Given the description of an element on the screen output the (x, y) to click on. 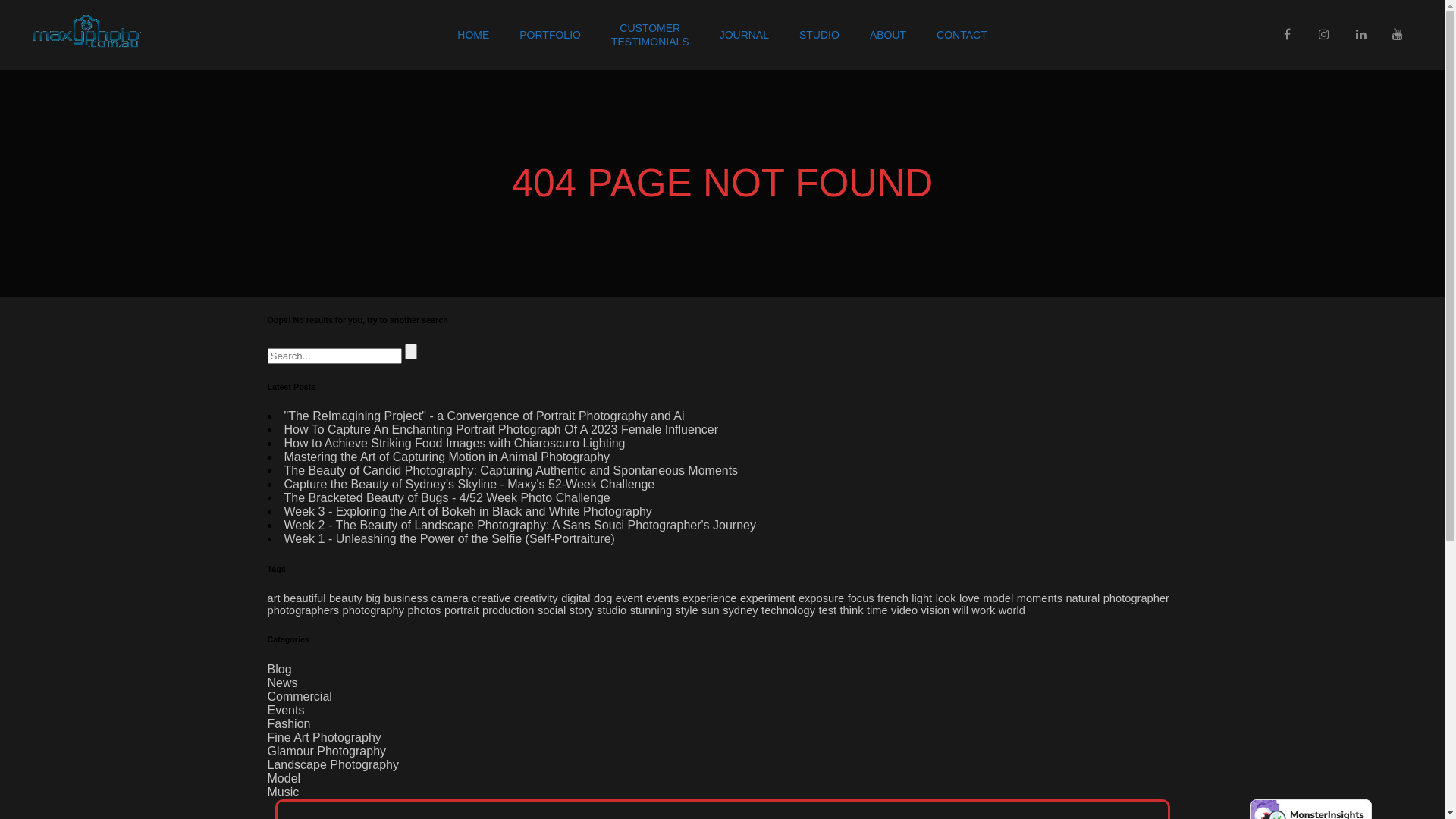
Music Element type: text (282, 791)
Model Element type: text (283, 777)
event Element type: text (629, 598)
Fine Art Photography Element type: text (323, 737)
experiment Element type: text (767, 598)
Mastering the Art of Capturing Motion in Animal Photography Element type: text (446, 456)
stunning Element type: text (650, 610)
camera Element type: text (449, 598)
ABOUT Element type: text (887, 34)
STUDIO Element type: text (819, 34)
photographer Element type: text (1136, 598)
creativity Element type: text (536, 598)
Maxyphoto Element type: hover (1323, 34)
Commercial Element type: text (298, 696)
love Element type: text (969, 598)
time Element type: text (877, 610)
photography Element type: text (373, 610)
beautiful Element type: text (304, 598)
look Element type: text (945, 598)
Blog Element type: text (278, 668)
model Element type: text (997, 598)
experience Element type: text (709, 598)
social Element type: text (551, 610)
creative Element type: text (490, 598)
think Element type: text (851, 610)
digital Element type: text (575, 598)
Maxys Max Media and Entertainment  Element type: hover (1397, 34)
HOME Element type: text (473, 34)
The Bracketed Beauty of Bugs - 4/52 Week Photo Challenge Element type: text (446, 497)
JOURNAL Element type: text (744, 34)
photos Element type: text (423, 610)
test Element type: text (827, 610)
natural Element type: text (1082, 598)
moments Element type: text (1039, 598)
portrait Element type: text (461, 610)
will Element type: text (960, 610)
vision Element type: text (935, 610)
story Element type: text (581, 610)
production Element type: text (507, 610)
technology Element type: text (788, 610)
PORTFOLIO Element type: text (550, 34)
art Element type: text (272, 598)
events Element type: text (662, 598)
Maxyphoto Facebook Element type: hover (1287, 34)
Glamour Photography Element type: text (325, 750)
photographers Element type: text (302, 610)
video Element type: text (904, 610)
exposure Element type: text (821, 598)
style Element type: text (685, 610)
News Element type: text (281, 682)
world Element type: text (1011, 610)
Fashion Element type: text (288, 723)
sun Element type: text (710, 610)
sydney Element type: text (739, 610)
beauty Element type: text (345, 598)
CUSTOMER TESTIMONIALS Element type: text (650, 34)
Landscape Photography Element type: text (332, 764)
focus Element type: text (860, 598)
CONTACT Element type: text (961, 34)
french Element type: text (892, 598)
studio Element type: text (611, 610)
light Element type: text (921, 598)
Sydney Photographer and Video Production Scott Maxworthy Element type: hover (1360, 34)
big Element type: text (372, 598)
business Element type: text (405, 598)
work Element type: text (982, 610)
Events Element type: text (285, 709)
dog Element type: text (602, 598)
